Given the description of an element on the screen output the (x, y) to click on. 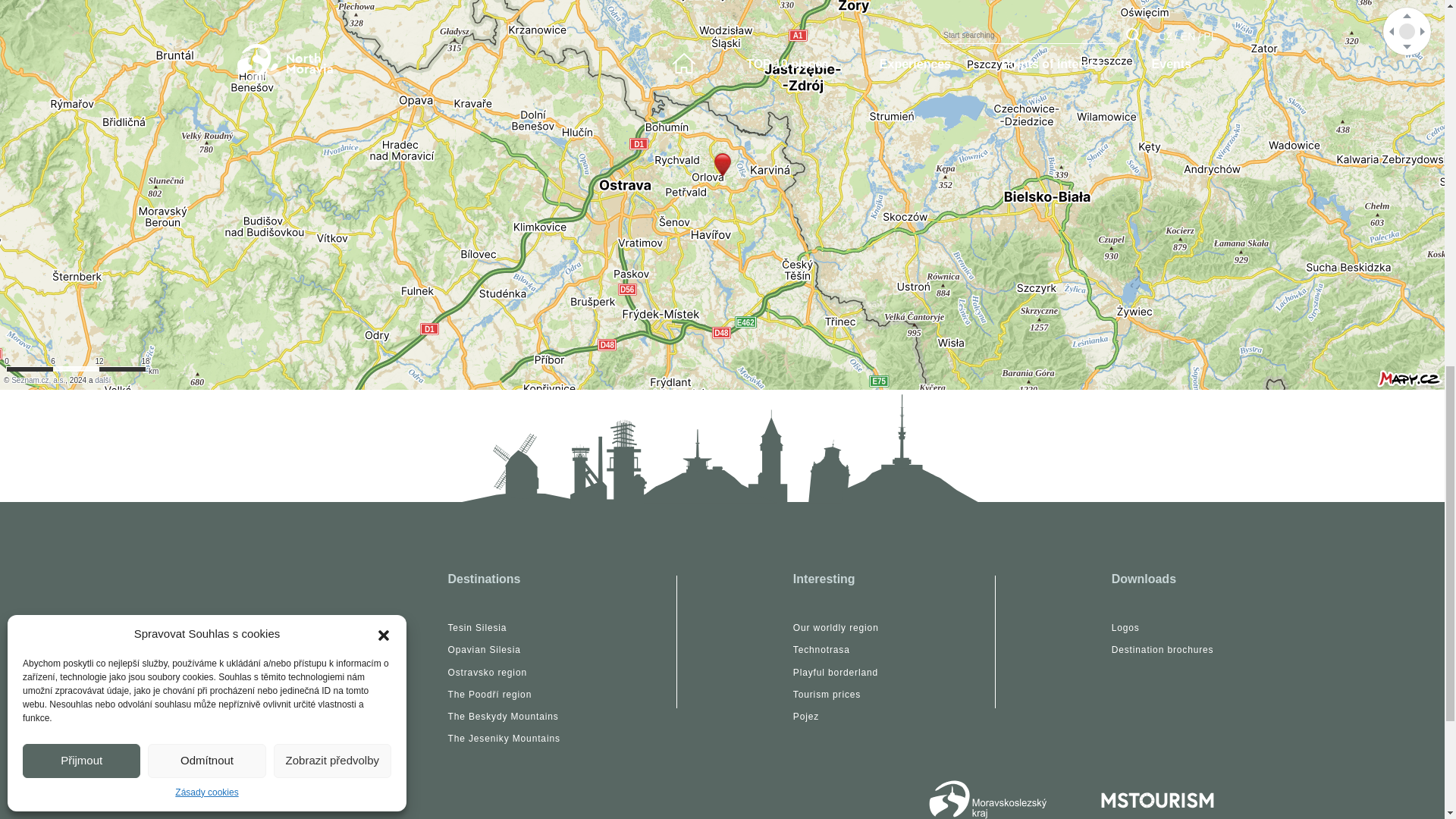
Posun mapy (1407, 31)
